Given the description of an element on the screen output the (x, y) to click on. 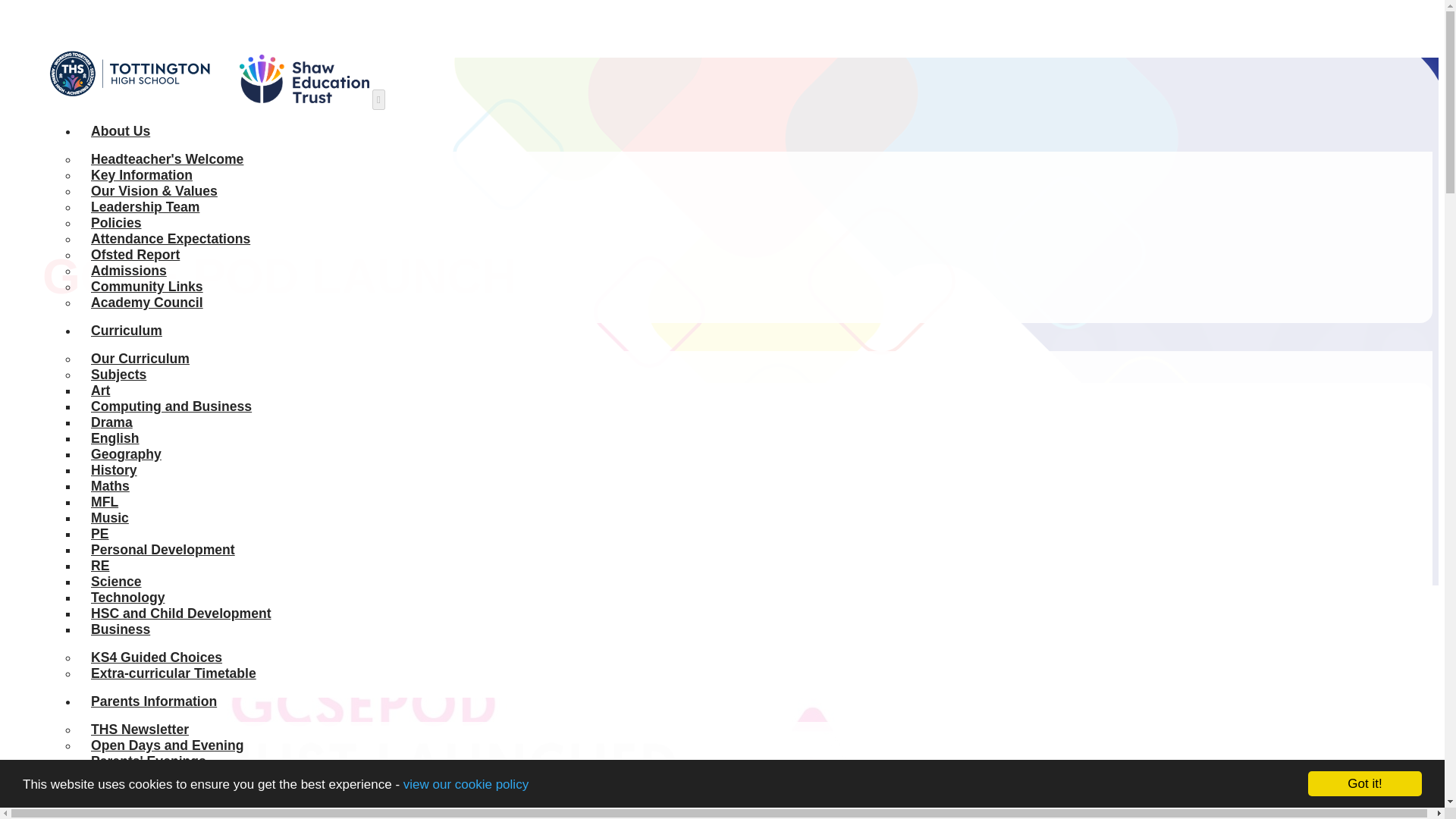
Academy Council (146, 302)
Ofsted Report (135, 254)
Policies (116, 222)
Curriculum (126, 330)
Extra-curricular Timetable (172, 673)
About Us (119, 130)
RE (99, 565)
Key Information (141, 175)
Leadership Team (144, 206)
KS4 Guided Choices (156, 656)
HSC and Child Development (180, 613)
Computing and Business (170, 406)
Community Links (146, 286)
PE (99, 533)
Maths (109, 485)
